Given the description of an element on the screen output the (x, y) to click on. 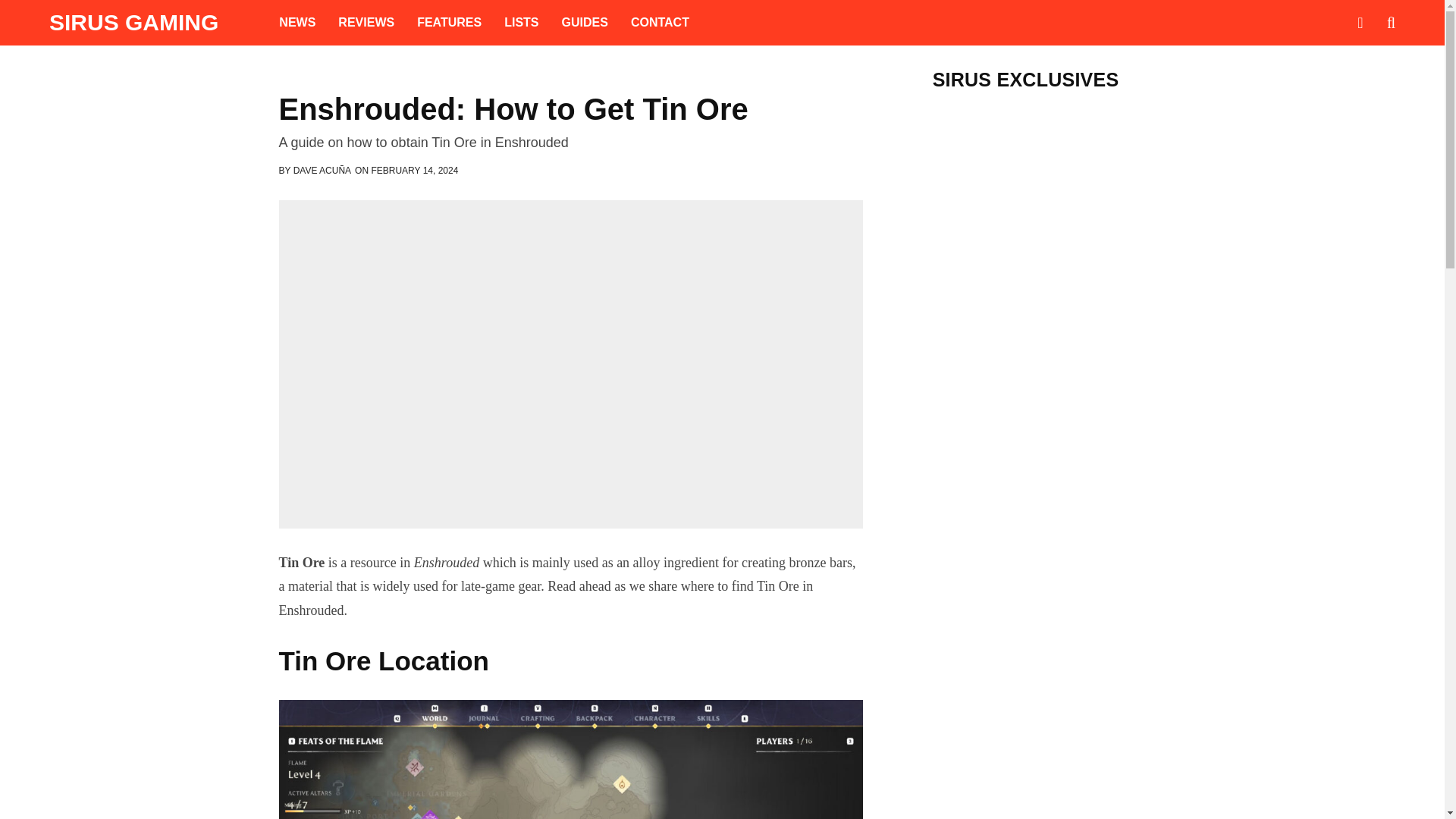
NEWS (296, 22)
SIRUS GAMING (133, 22)
REVIEWS (366, 22)
CONTACT (660, 22)
FEATURES (449, 22)
LISTS (521, 22)
GUIDES (585, 22)
